Given the description of an element on the screen output the (x, y) to click on. 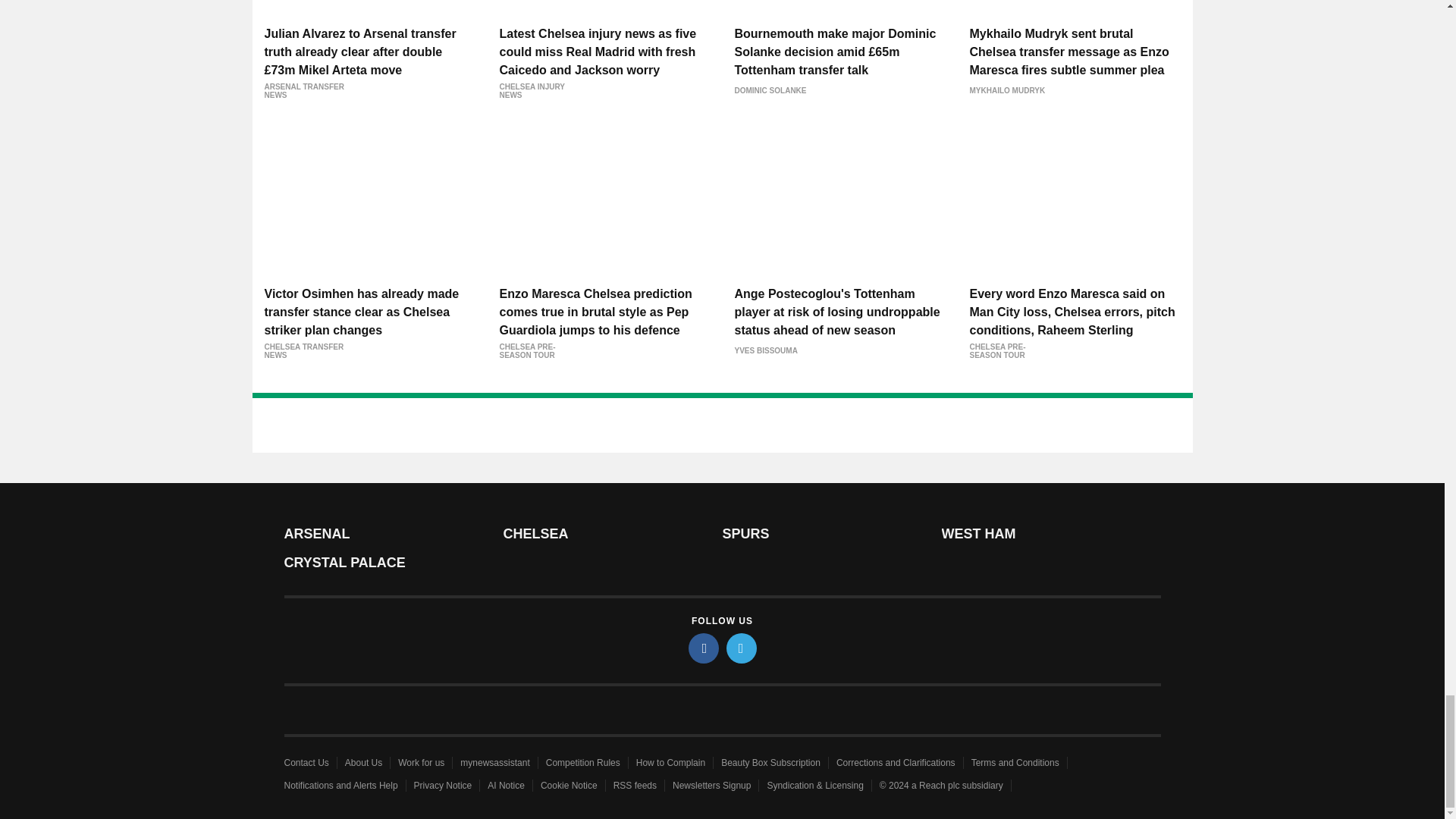
facebook (703, 648)
twitter (741, 648)
